Given the description of an element on the screen output the (x, y) to click on. 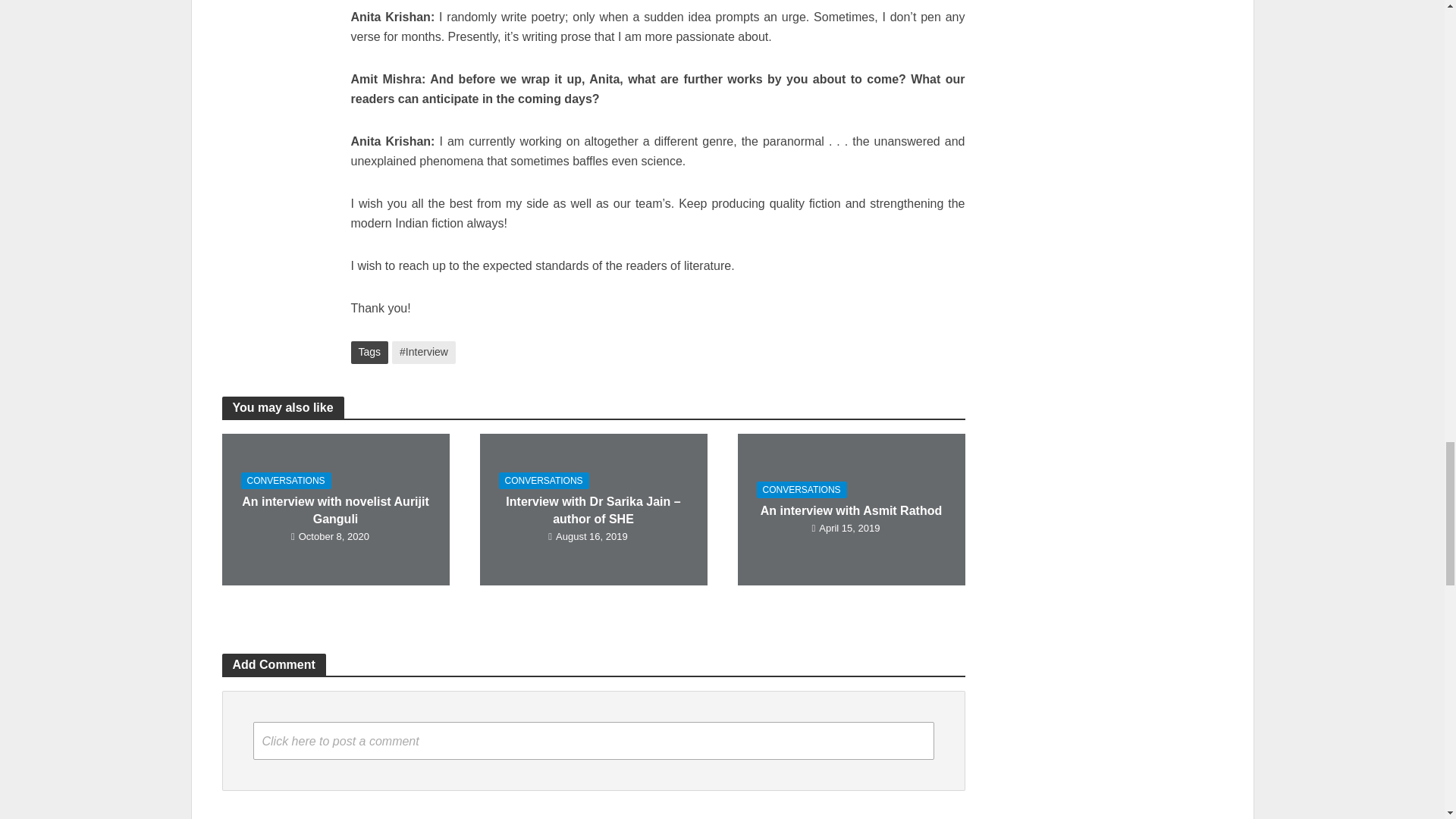
CONVERSATIONS (802, 489)
An interview with Asmit Rathod (851, 510)
An interview with novelist Aurijit Ganguli (334, 508)
An interview with Asmit Rathod (849, 508)
An interview with novelist Aurijit Ganguli (335, 510)
CONVERSATIONS (544, 480)
CONVERSATIONS (286, 480)
